Given the description of an element on the screen output the (x, y) to click on. 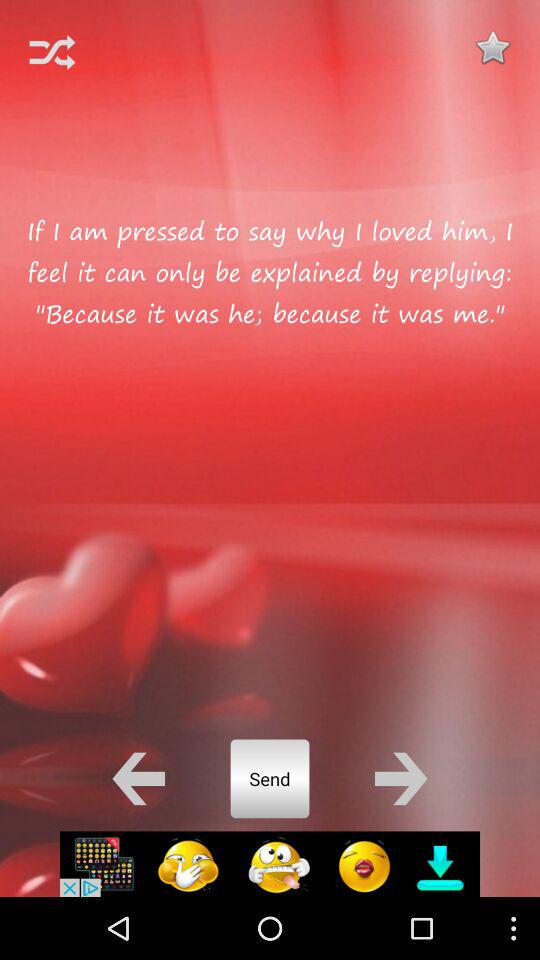
go to previous (138, 778)
